Given the description of an element on the screen output the (x, y) to click on. 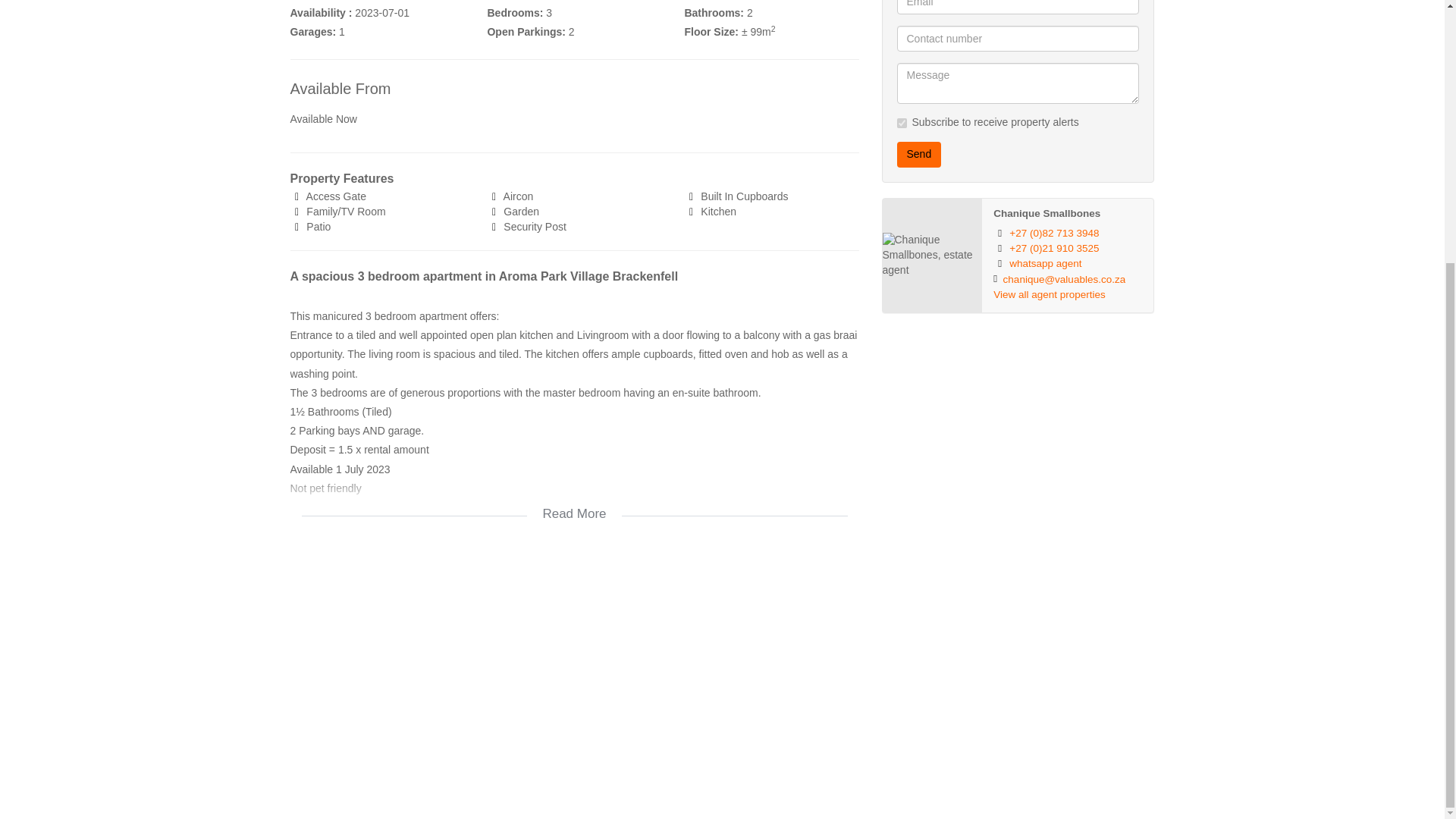
Read More (574, 504)
on (900, 122)
google map (574, 667)
